Given the description of an element on the screen output the (x, y) to click on. 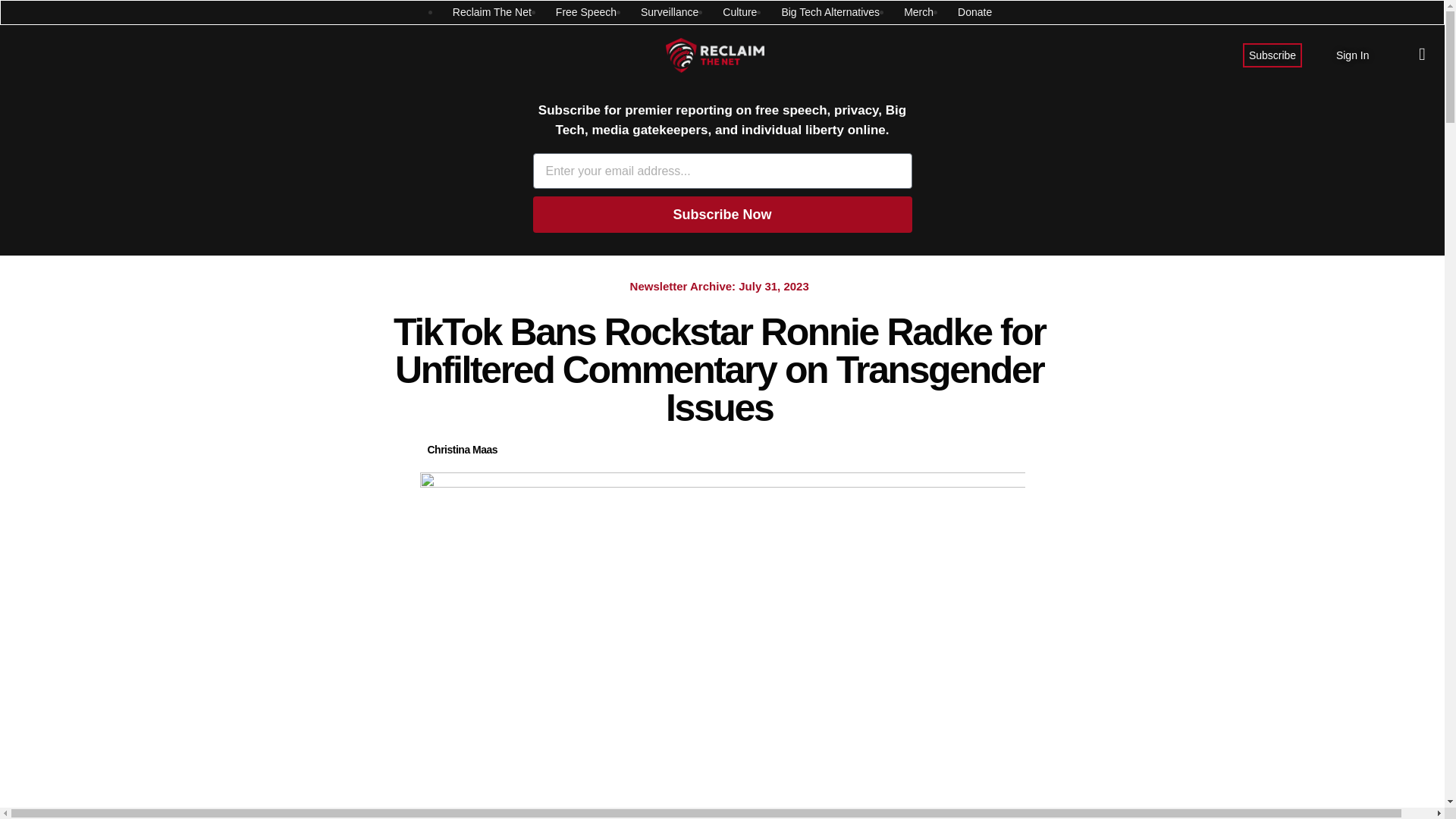
Donate (974, 12)
Reclaim The Net (491, 12)
Merch (918, 12)
Big Tech Alternatives (829, 12)
Free Speech (585, 12)
Subscribe (1272, 55)
Sign In (1353, 55)
Subscribe Now (721, 214)
Culture (739, 12)
Surveillance (669, 12)
Christina Maas (462, 449)
